Given the description of an element on the screen output the (x, y) to click on. 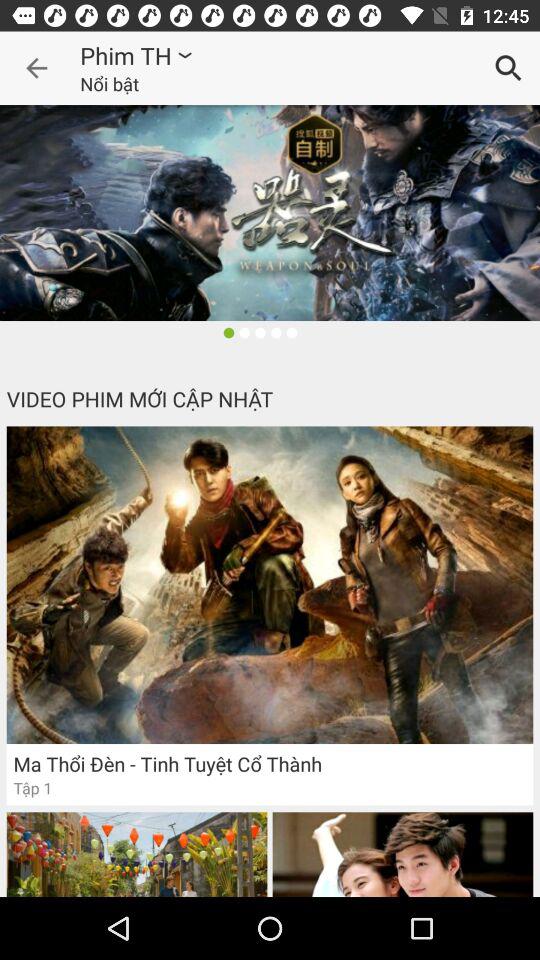
turn off icon to the left of phim th icon (36, 68)
